Given the description of an element on the screen output the (x, y) to click on. 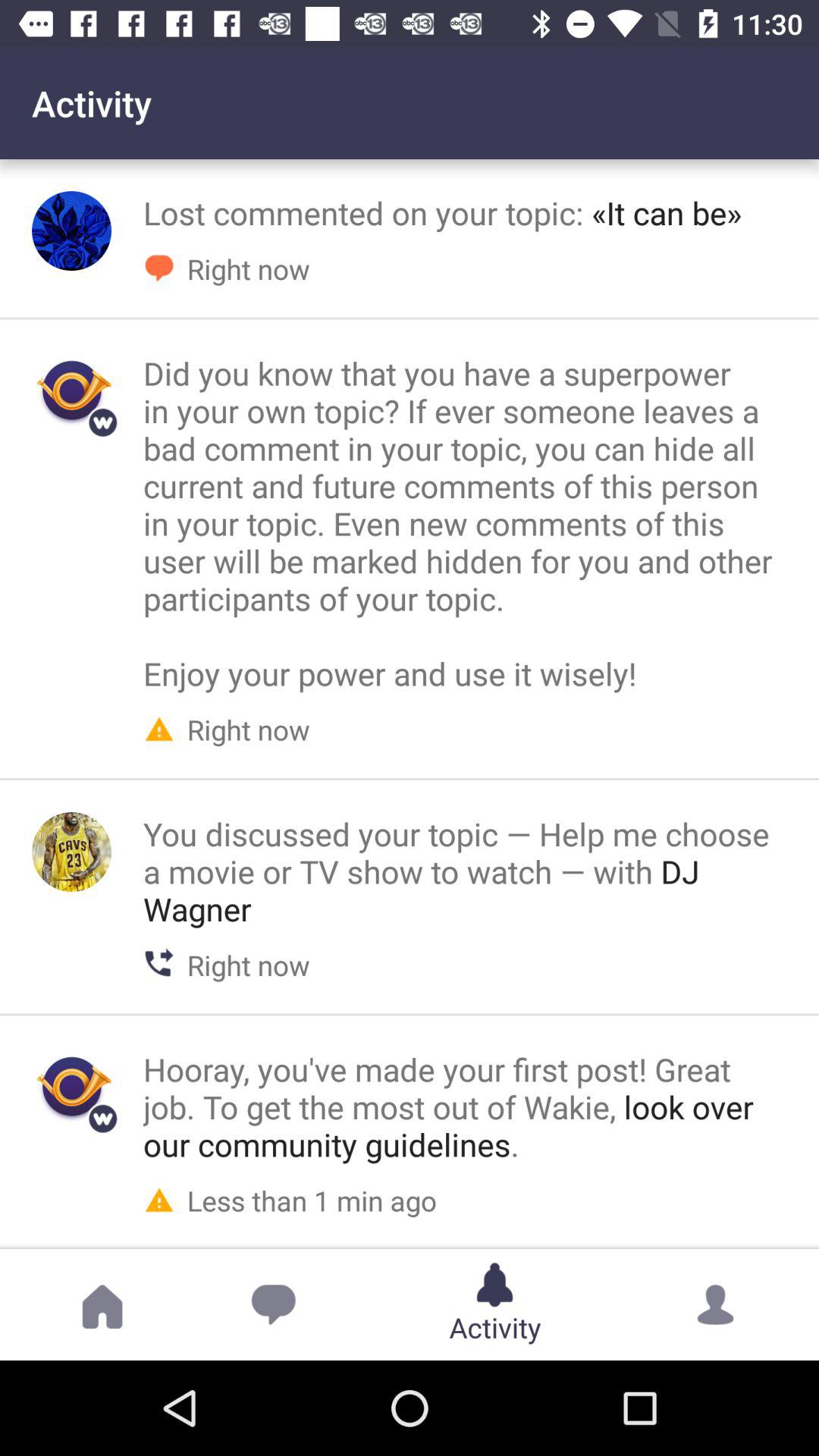
click to view person (71, 851)
